Given the description of an element on the screen output the (x, y) to click on. 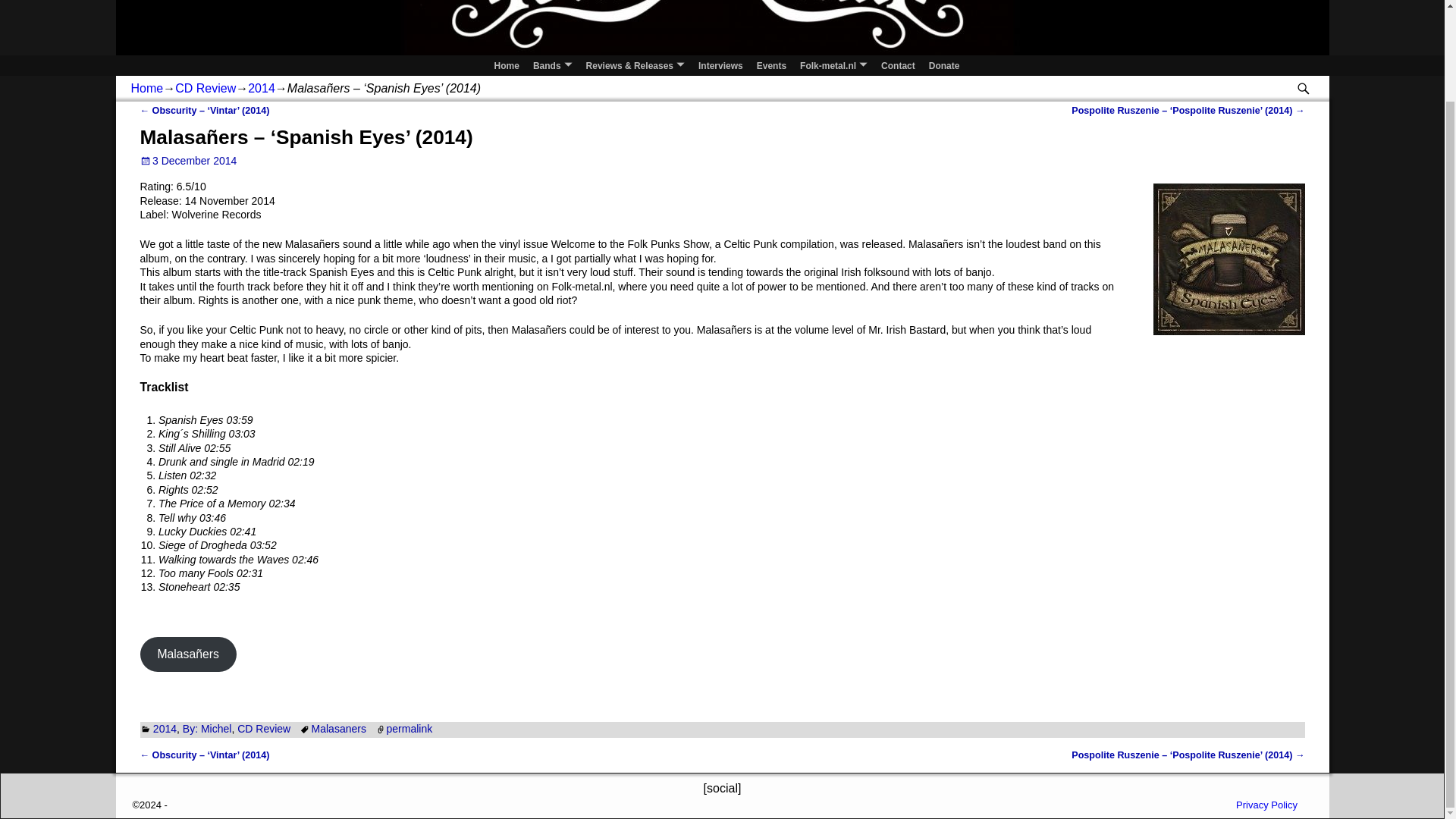
Home (506, 65)
20:25 (187, 160)
Support Us (943, 65)
Bands (552, 65)
